Given the description of an element on the screen output the (x, y) to click on. 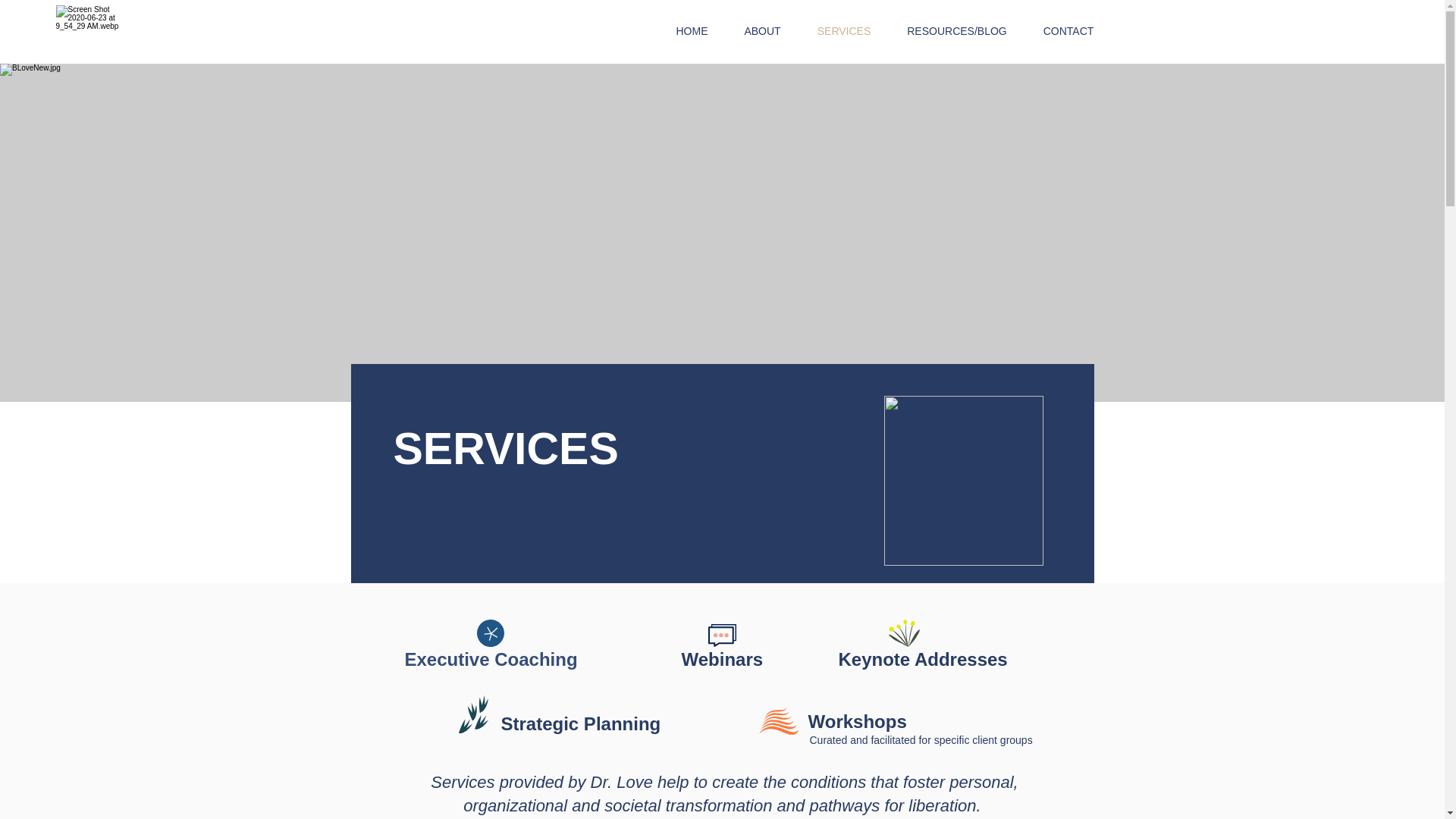
CONTACT (1068, 30)
HOME (692, 30)
ABOUT (762, 30)
SERVICES (844, 30)
